Given the description of an element on the screen output the (x, y) to click on. 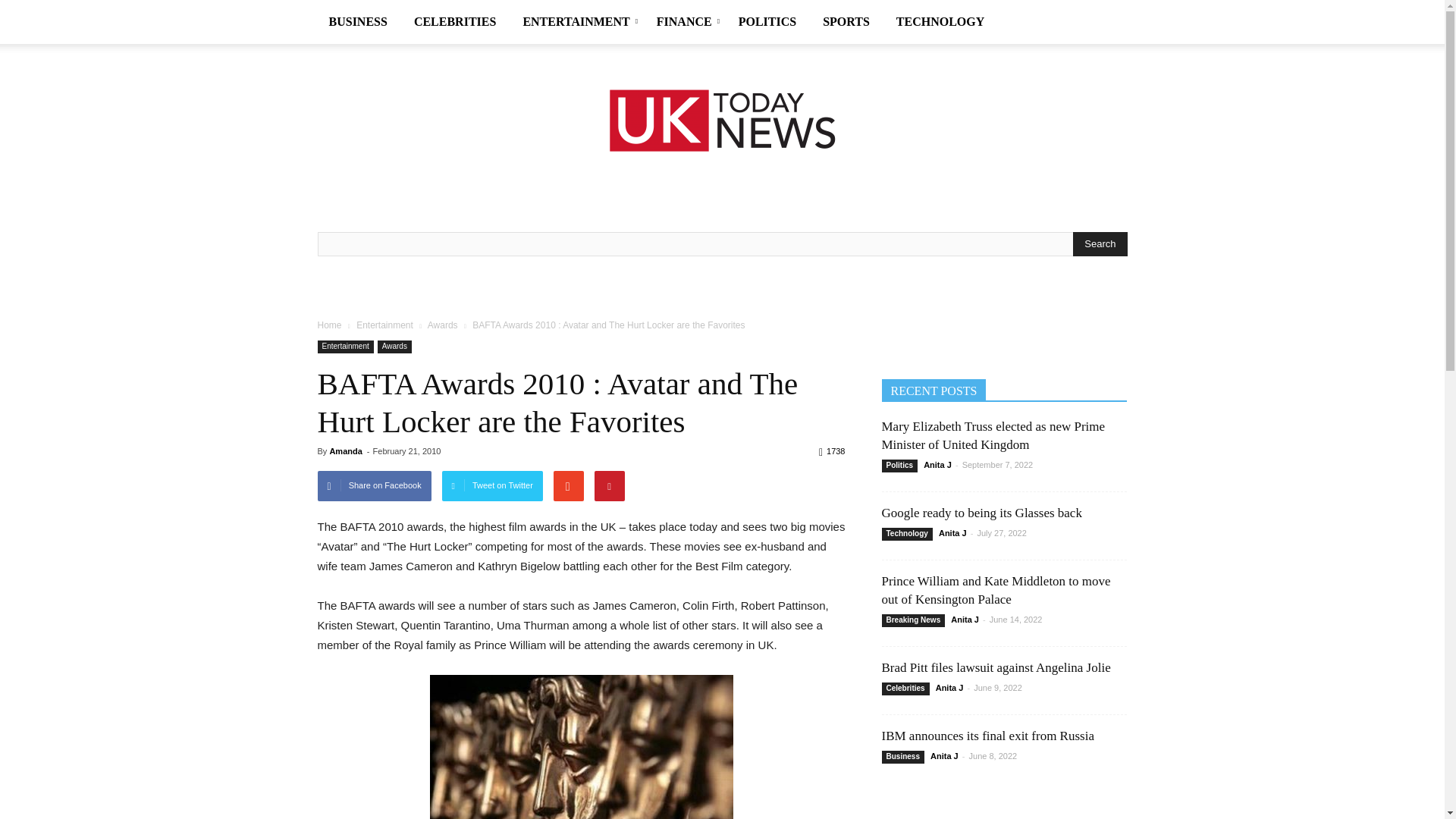
IBM announces its final exit from Russia (986, 735)
BAFTA (580, 746)
Brad Pitt files lawsuit against Angelina Jolie (994, 667)
BUSINESS (359, 22)
View all posts in Entertainment (384, 325)
CELEBRITIES (457, 22)
ENTERTAINMENT (578, 22)
Google ready to being its Glasses back (980, 513)
FINANCE (685, 22)
View all posts in Awards (443, 325)
Search (1099, 243)
